Given the description of an element on the screen output the (x, y) to click on. 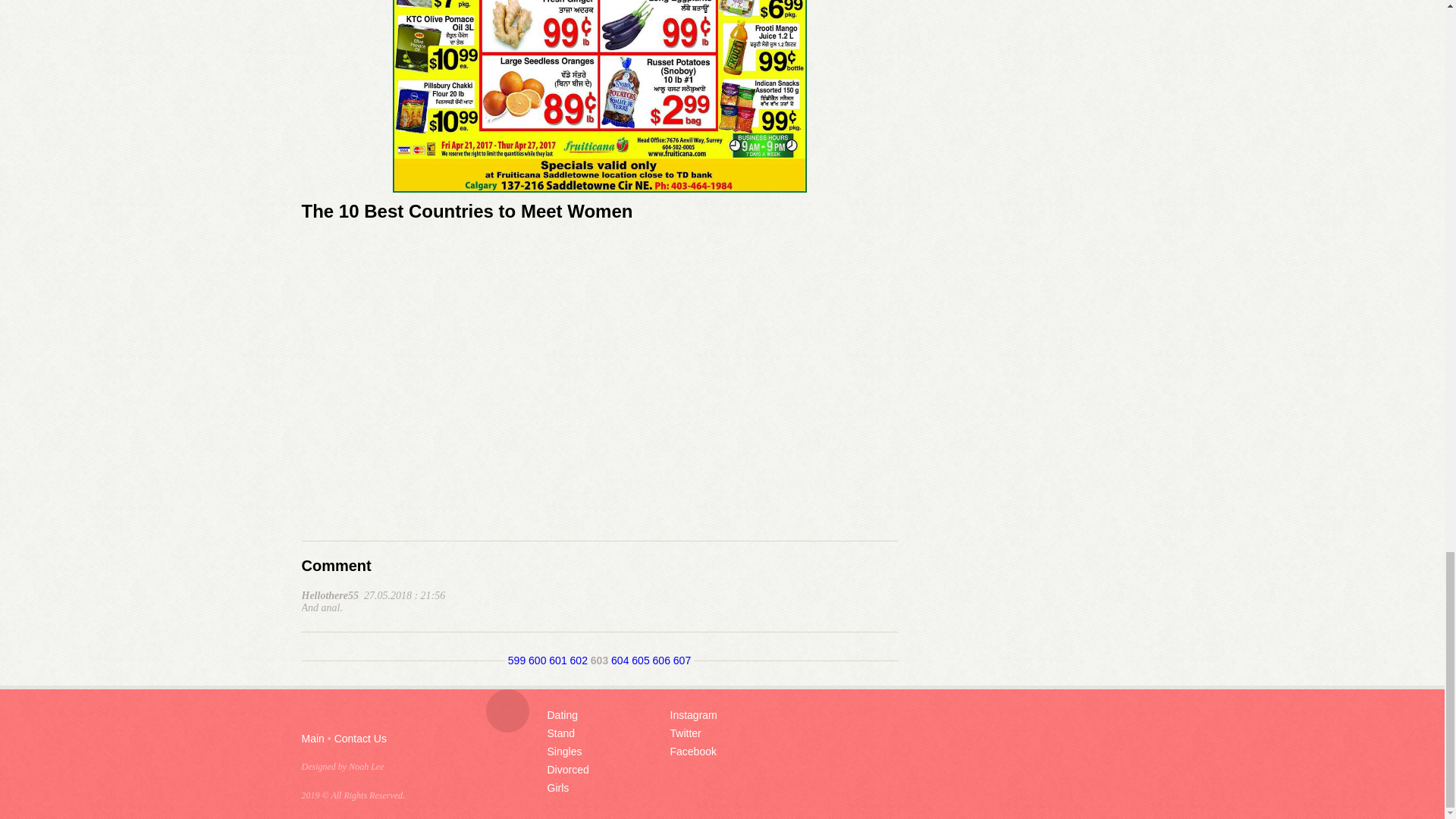
601 (557, 660)
Contact Us (360, 738)
606 (660, 660)
Stand (561, 733)
607 (681, 660)
Promiscuity Dating Singles Calgary Local In Spider (599, 96)
Divorced (568, 769)
604 (619, 660)
600 (537, 660)
Upwards (506, 710)
Twitter (685, 733)
Instagram (693, 715)
599 (516, 660)
Girls (558, 787)
605 (640, 660)
